Given the description of an element on the screen output the (x, y) to click on. 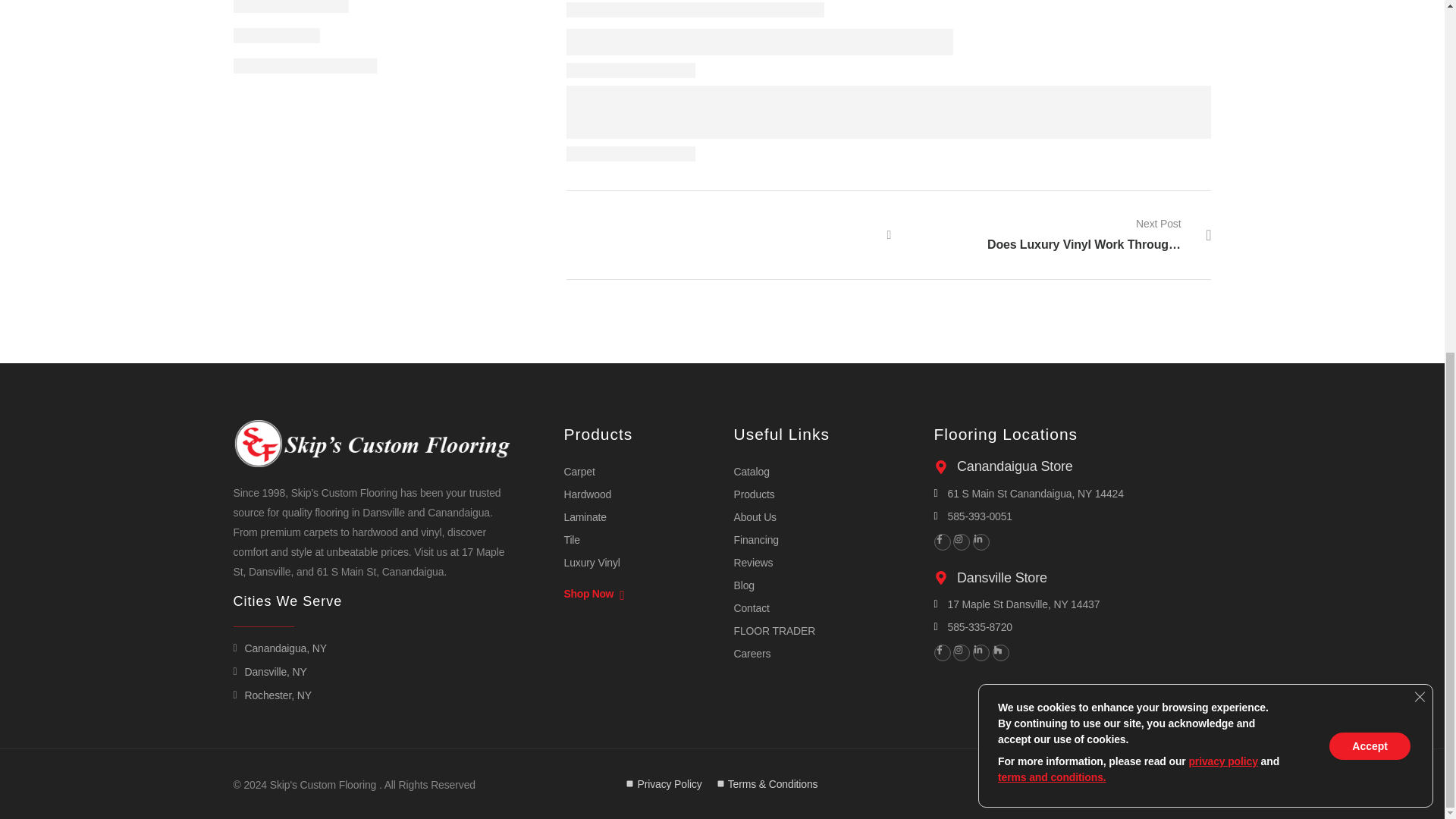
Rochester, NY (271, 695)
Carpet (579, 471)
Canandaigua, NY (279, 648)
Hardwood (587, 494)
Dansville, NY (269, 671)
Laminate (585, 516)
